Given the description of an element on the screen output the (x, y) to click on. 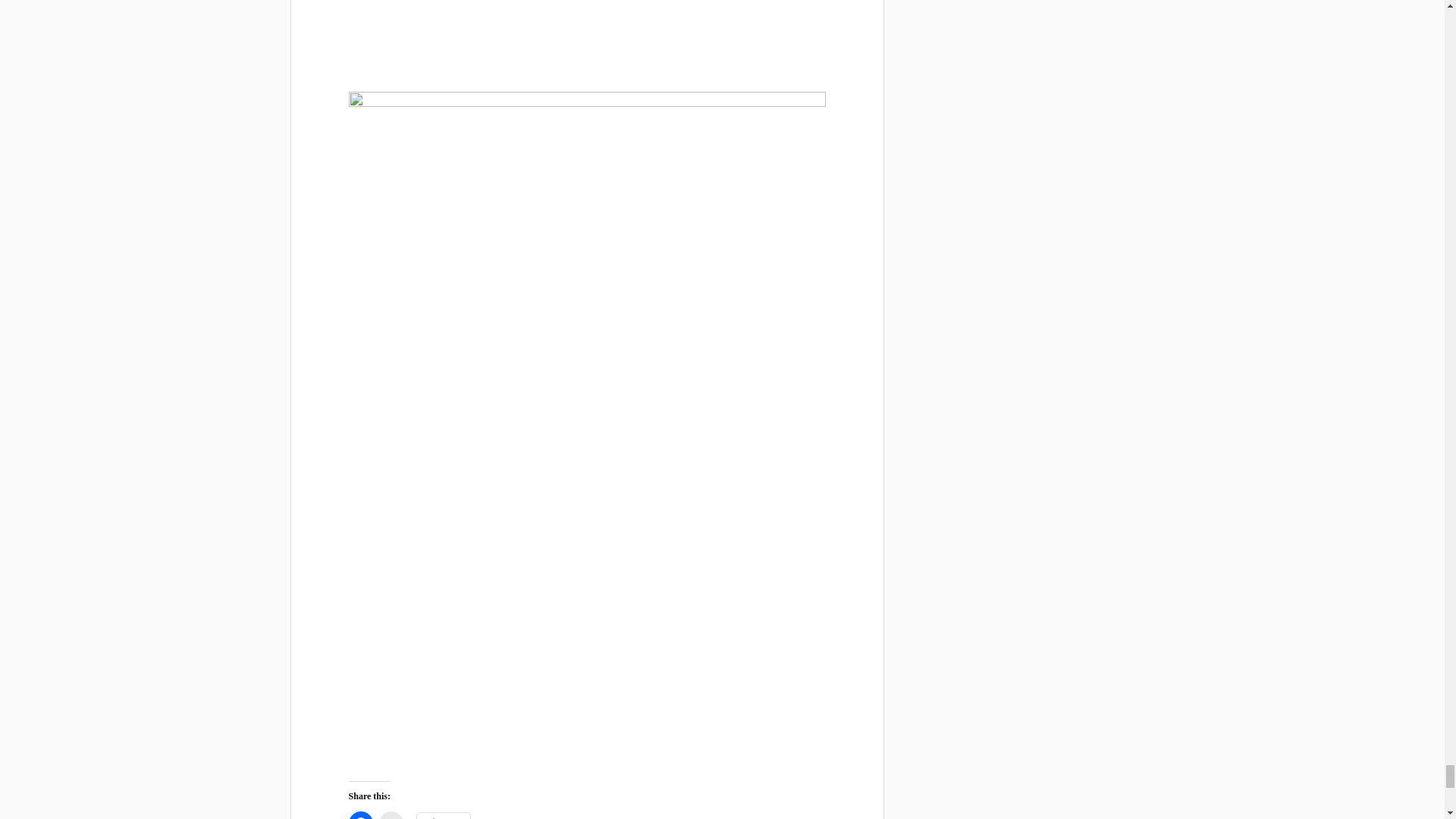
Click to email a link to a friend (390, 815)
Click to share on Facebook (360, 815)
